Given the description of an element on the screen output the (x, y) to click on. 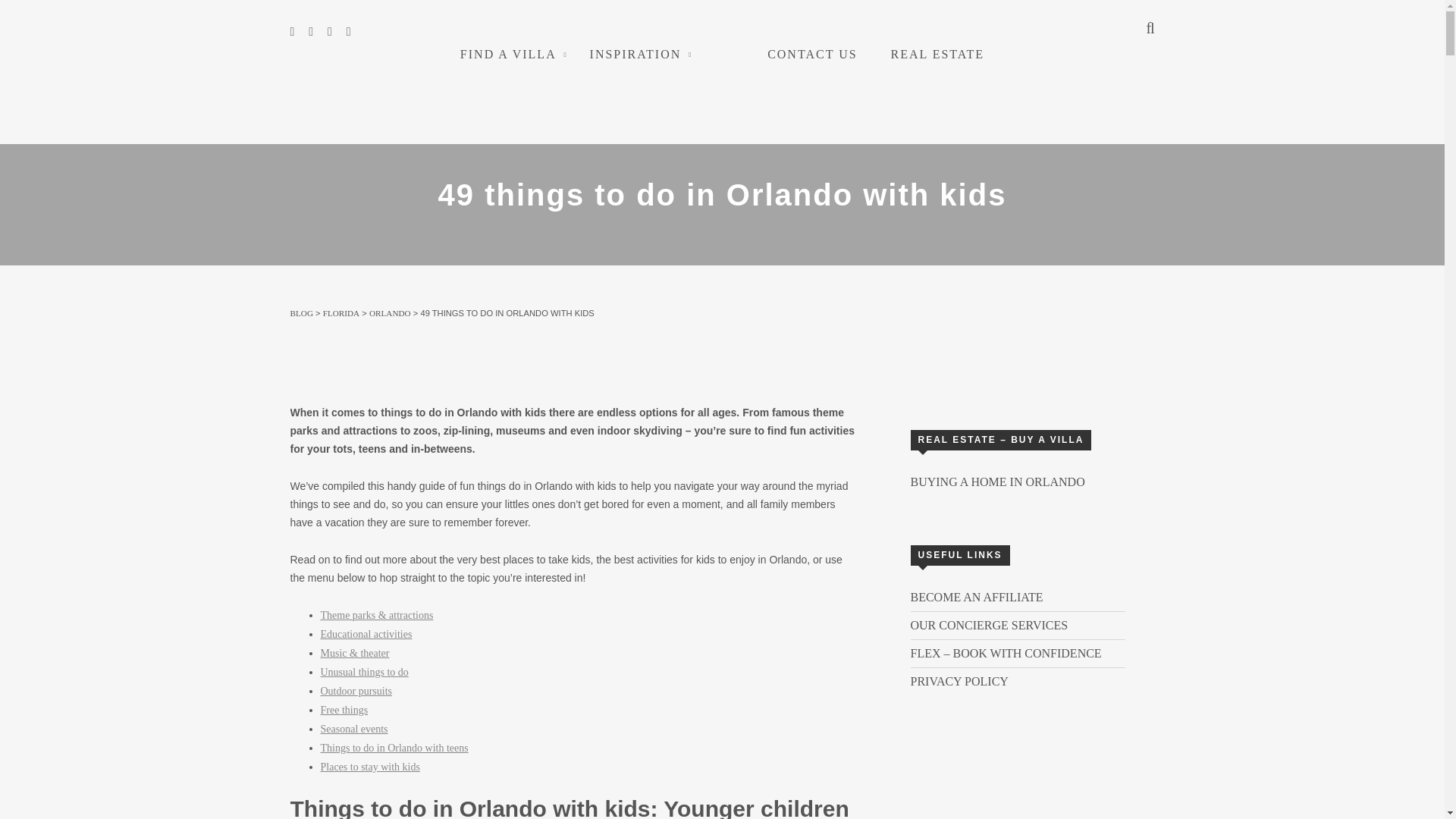
FIND A VILLA (508, 53)
